Given the description of an element on the screen output the (x, y) to click on. 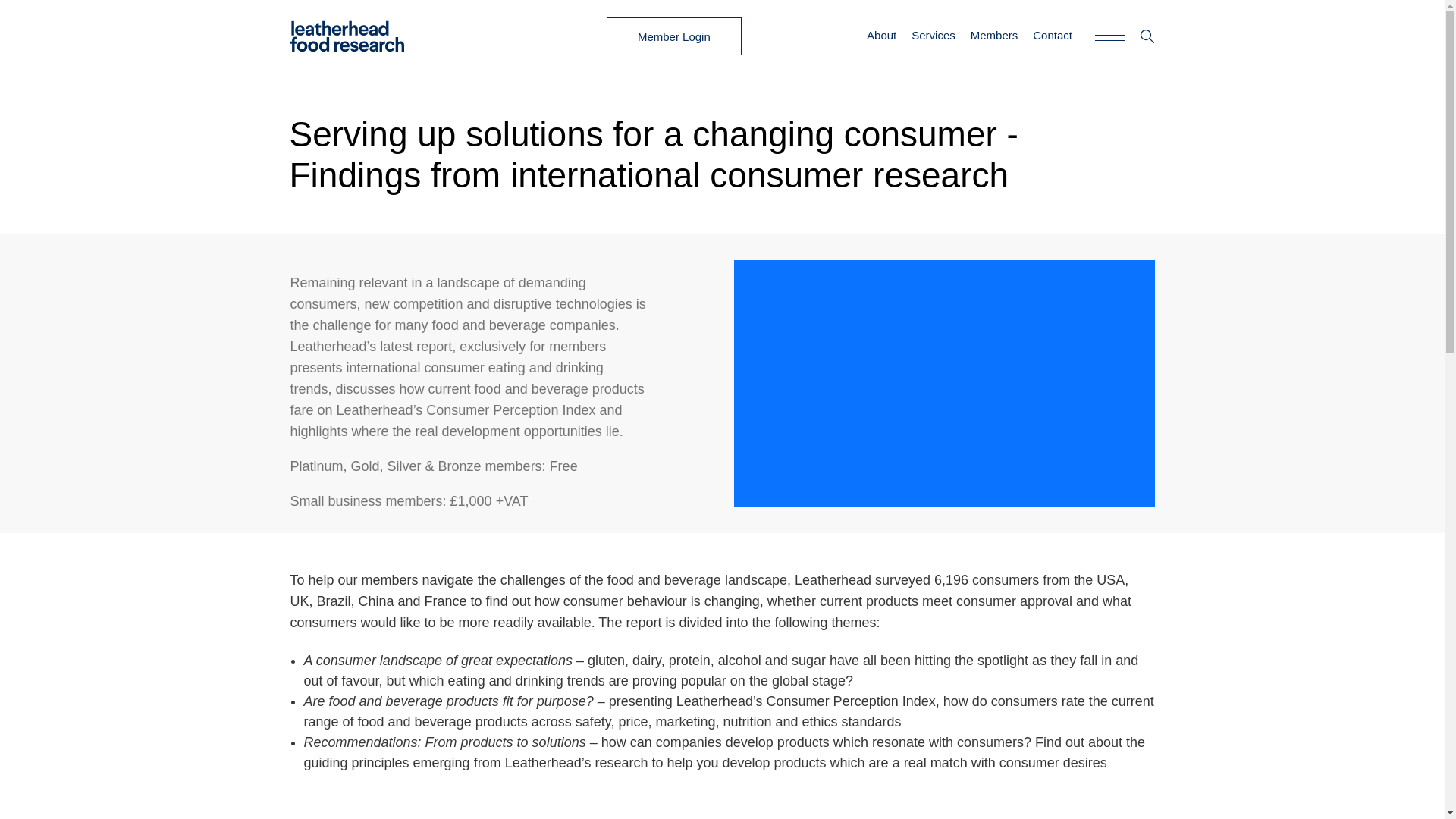
Services (933, 34)
Contact (1051, 34)
Sagentia Innovation (340, 684)
Frontier Smart Technologies (359, 699)
Members (994, 34)
TP Group (470, 699)
Members (426, 630)
Services (363, 630)
Contact (488, 630)
About (307, 630)
About (881, 34)
Science Group (354, 664)
Member Login (674, 36)
Science Group (334, 609)
CMS2 (529, 699)
